Given the description of an element on the screen output the (x, y) to click on. 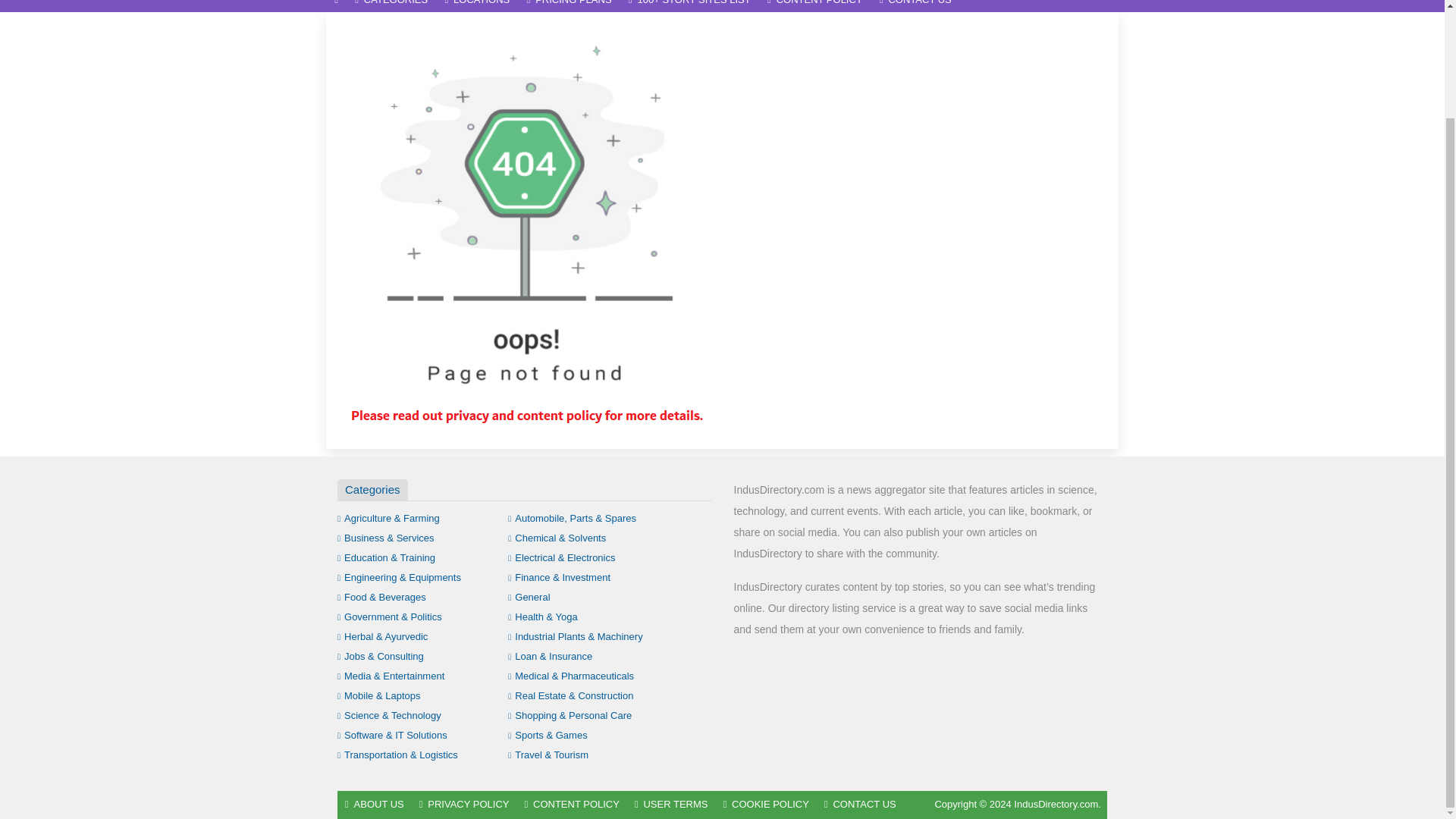
PRICING PLANS (569, 6)
LOCATIONS (476, 6)
CATEGORIES (390, 6)
General (529, 596)
HOME (336, 6)
CONTACT US (914, 6)
CONTENT POLICY (814, 6)
